Given the description of an element on the screen output the (x, y) to click on. 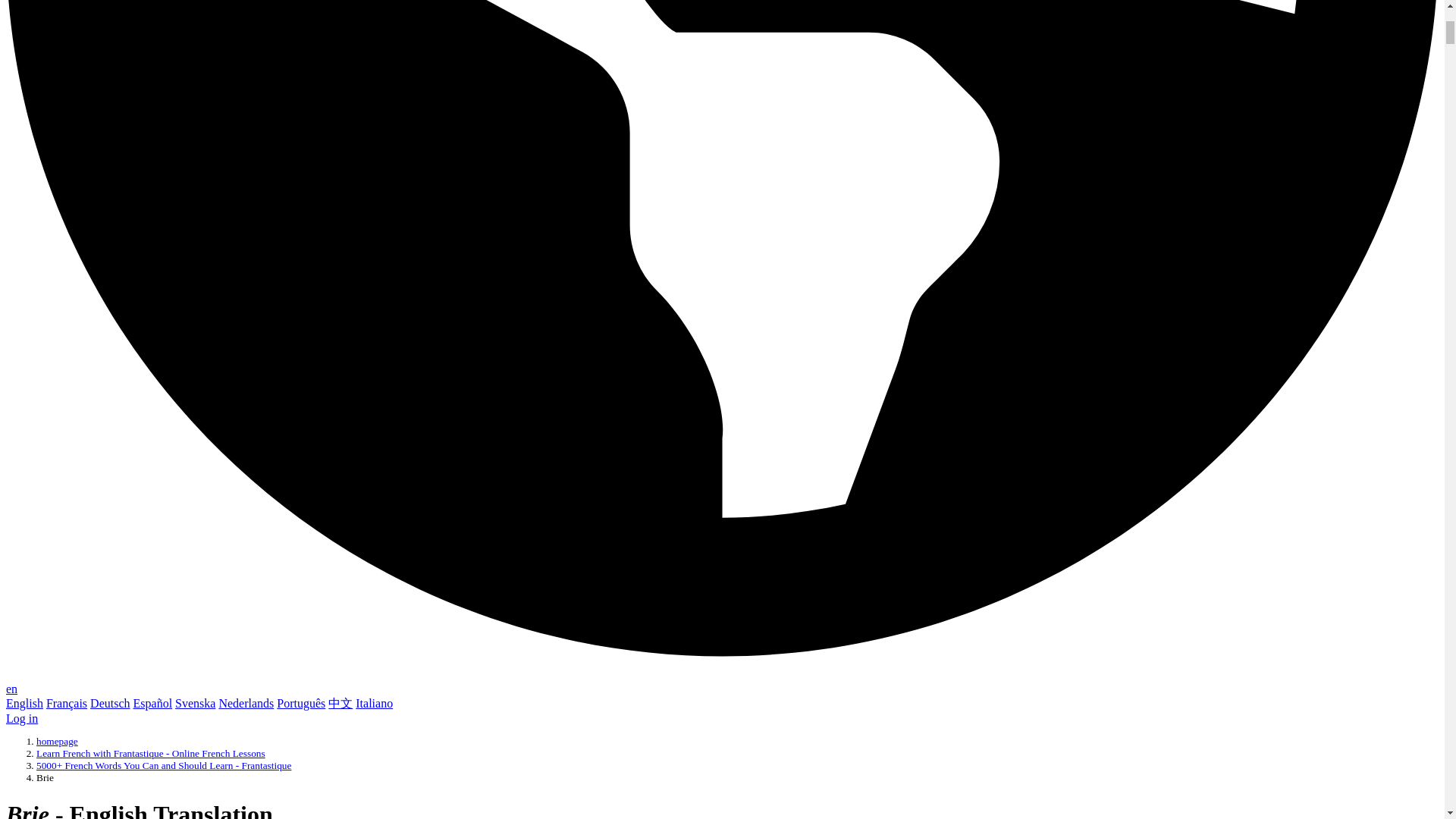
Log in (21, 717)
Deutsch (109, 703)
Nederlands (245, 703)
Italiano (374, 703)
English (24, 703)
Learn French with Frantastique - Online French Lessons (150, 753)
Svenska (194, 703)
homepage (57, 740)
